Given the description of an element on the screen output the (x, y) to click on. 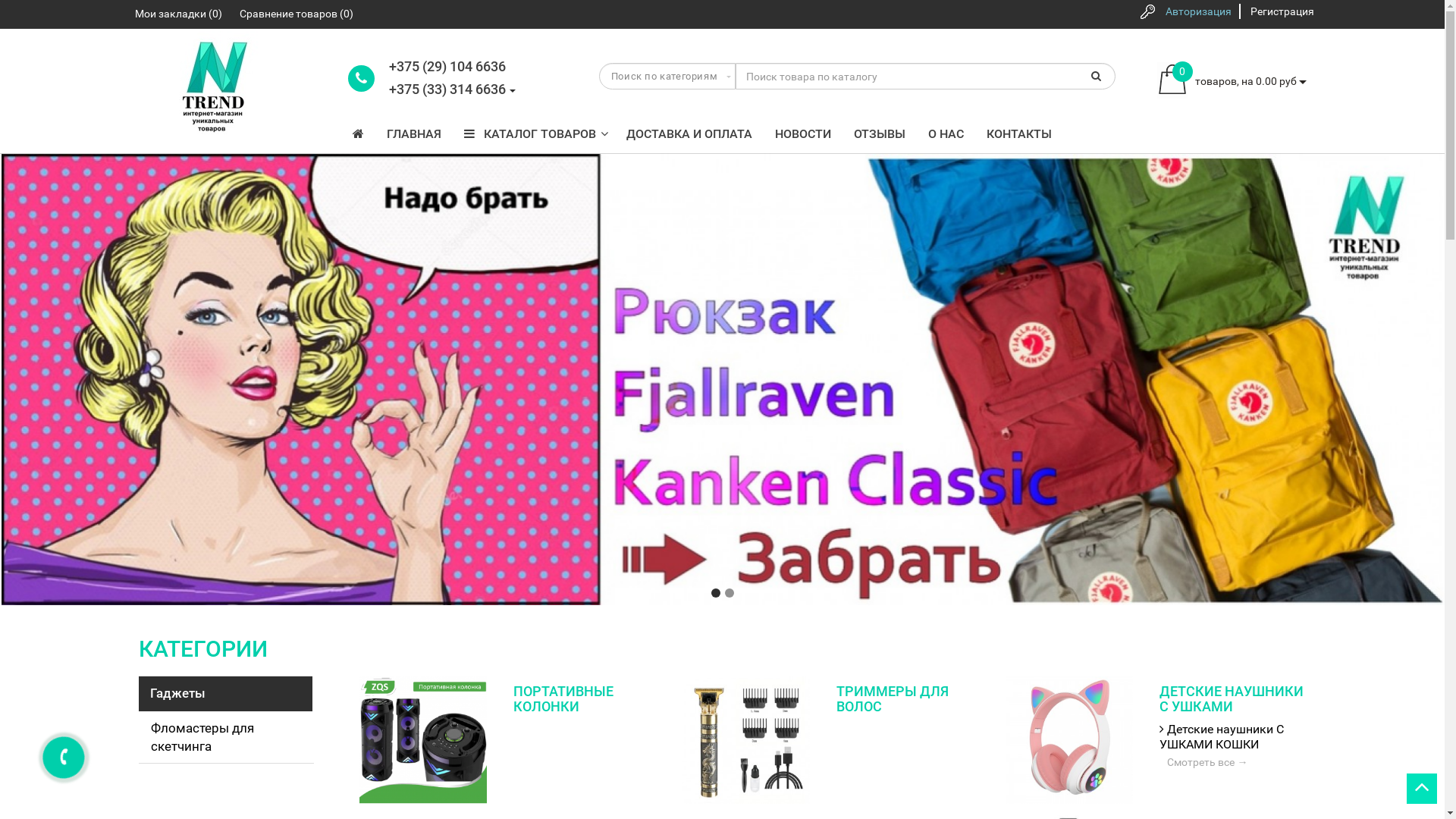
cart Element type: hover (1172, 80)
+375 (29) 104 6636 Element type: text (447, 67)
+375 (33) 314 6636 Element type: text (448, 90)
